Given the description of an element on the screen output the (x, y) to click on. 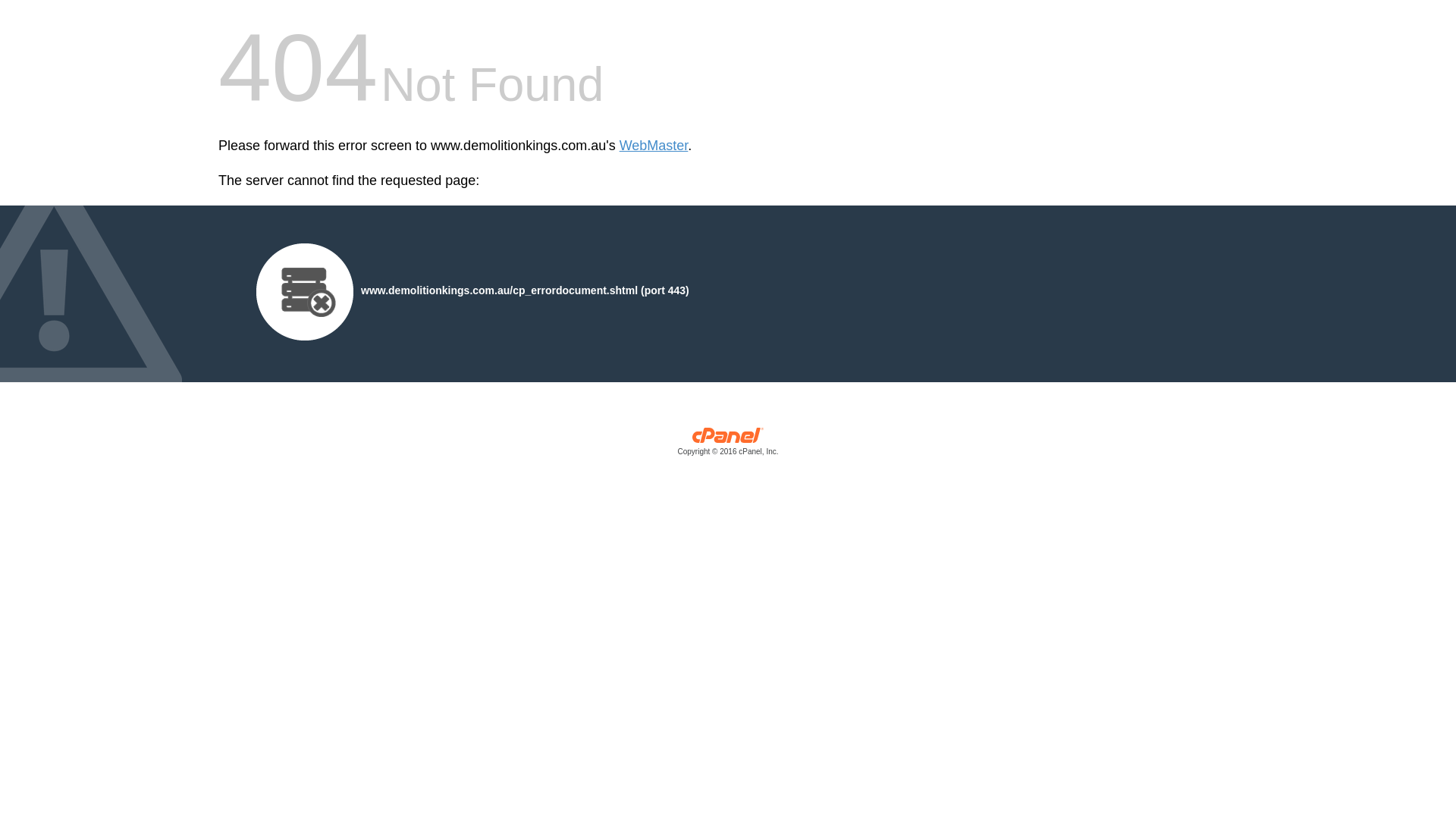
WebMaster Element type: text (653, 145)
